Given the description of an element on the screen output the (x, y) to click on. 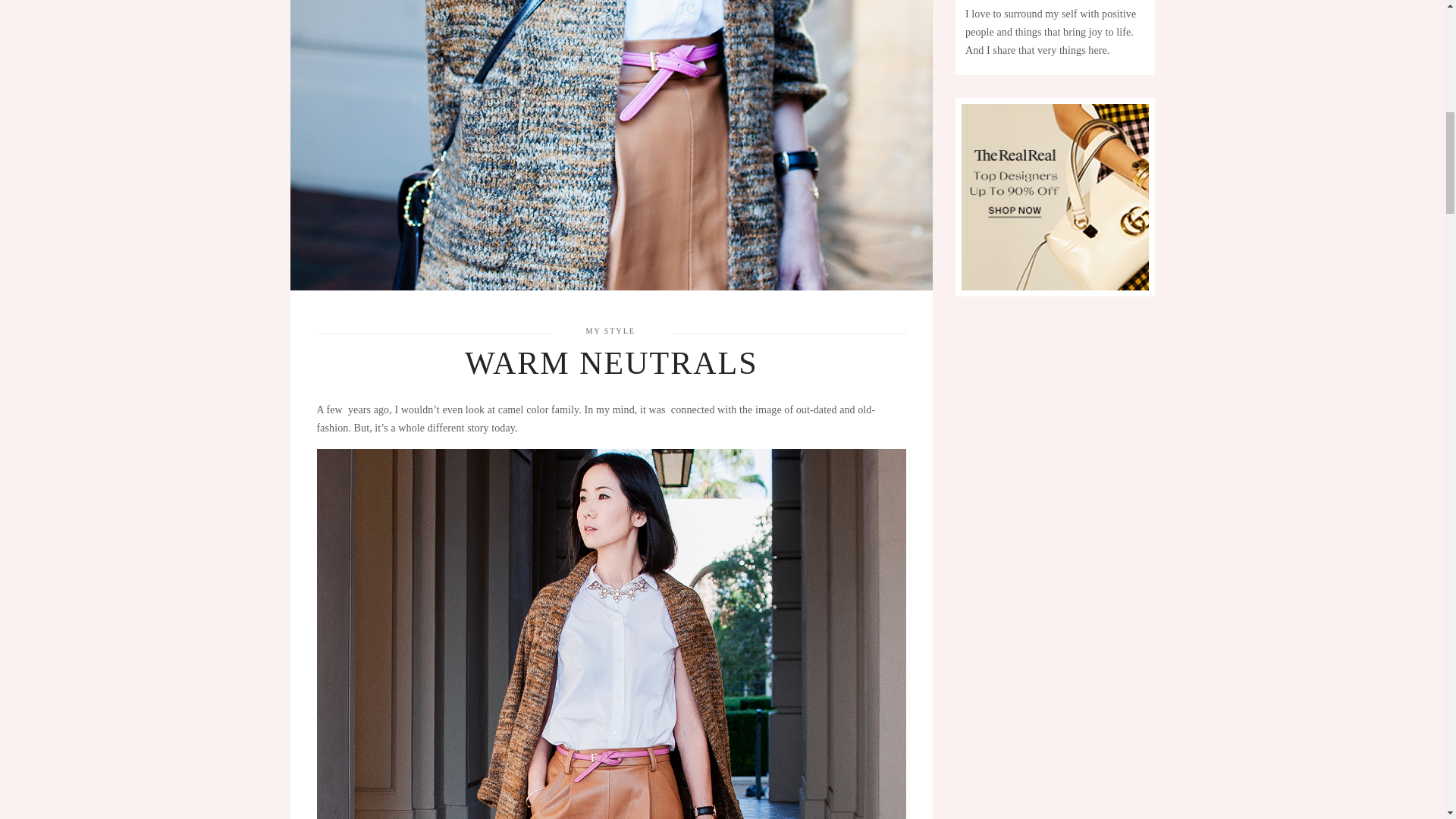
MY STYLE (610, 330)
A Collection of Latest Bridesmaid Dresses - Aisle Style UK (1054, 196)
